Given the description of an element on the screen output the (x, y) to click on. 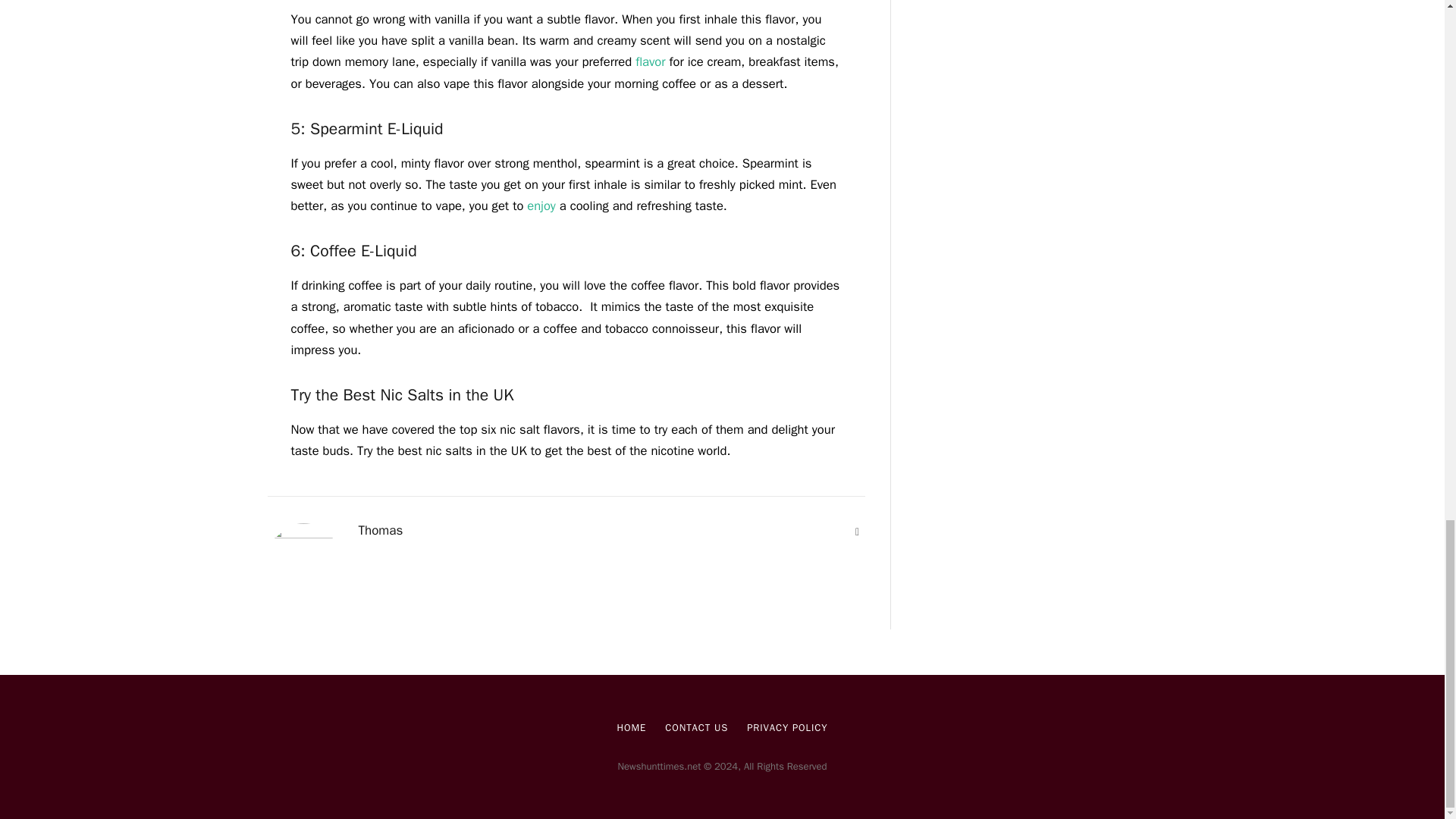
Posts by Thomas (380, 530)
Thomas (380, 530)
enjoy (540, 205)
Website (856, 531)
Website (856, 531)
flavor (649, 61)
